Given the description of an element on the screen output the (x, y) to click on. 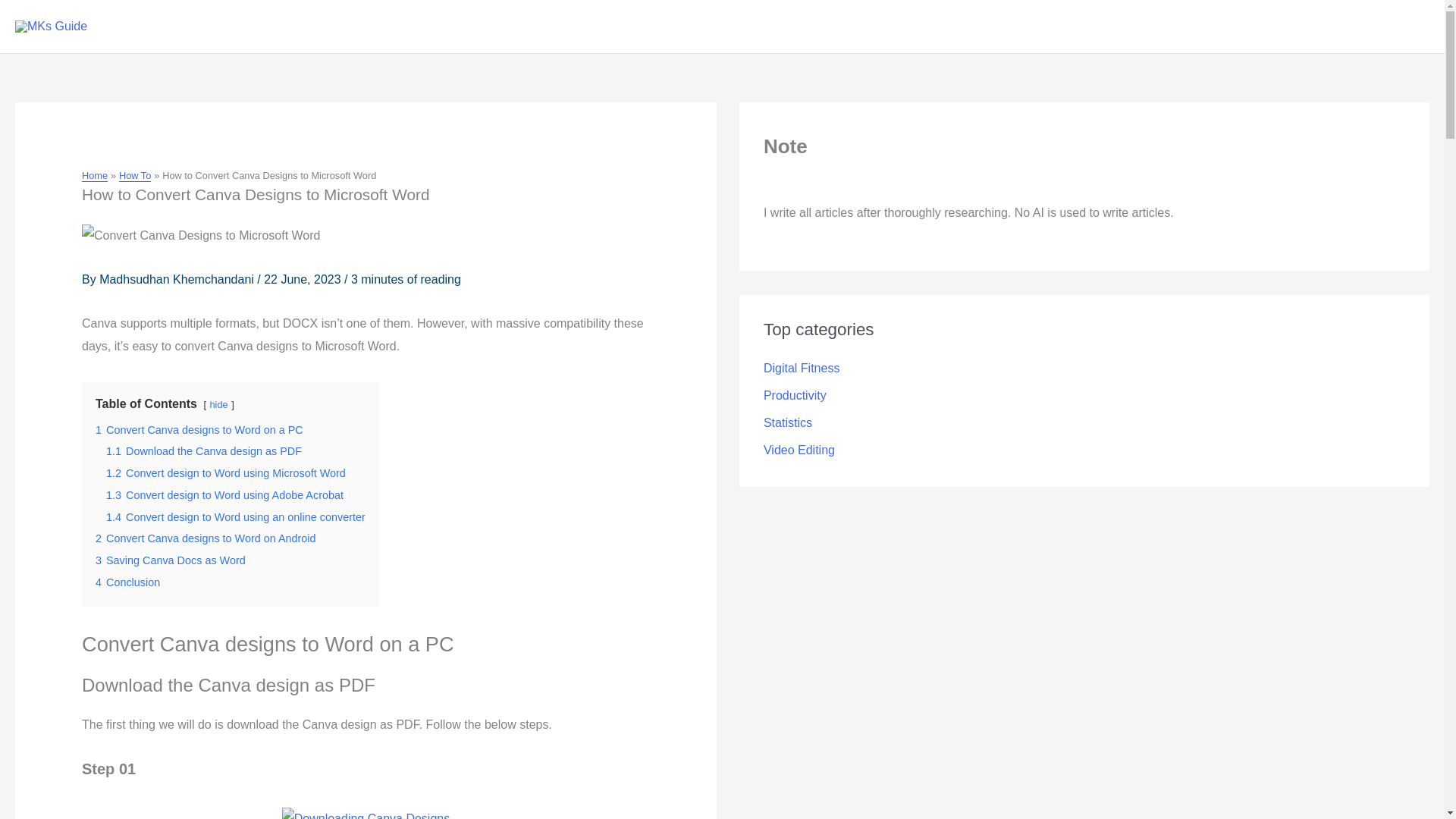
1.3 Convert design to Word using Adobe Acrobat (224, 494)
1.4 Convert design to Word using an online converter (235, 517)
About Me (918, 26)
How To (135, 175)
Home (94, 175)
1 Convert Canva designs to Word on a PC (199, 429)
1.1 Download the Canva design as PDF (203, 451)
4 Conclusion (128, 582)
Home (514, 26)
hide (218, 404)
